Given the description of an element on the screen output the (x, y) to click on. 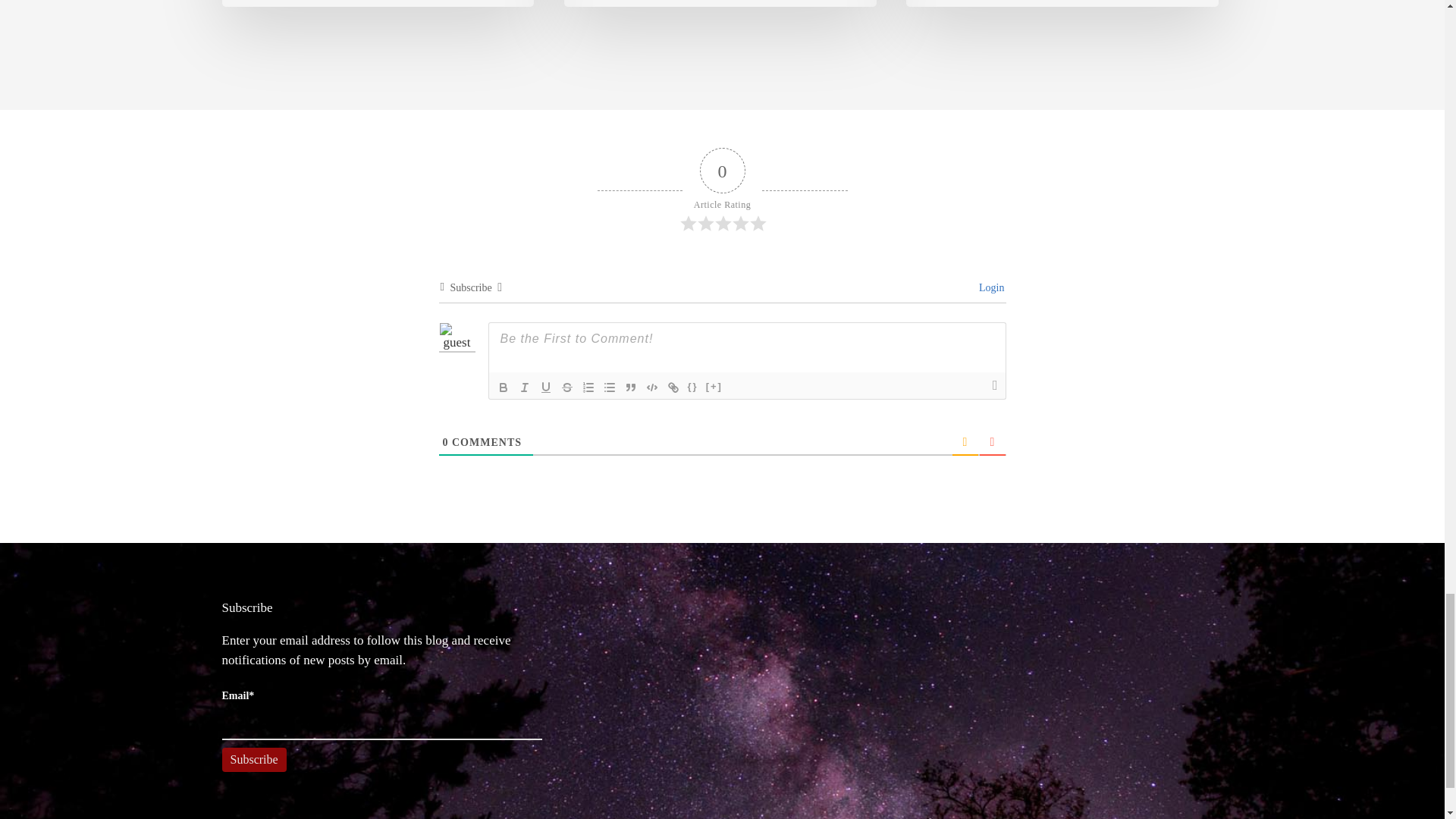
Strike (567, 387)
Unordered List (609, 387)
Bold (503, 387)
Underline (545, 387)
Blockquote (631, 387)
Italic (524, 387)
Subscribe (253, 759)
Ordered List (588, 387)
